Given the description of an element on the screen output the (x, y) to click on. 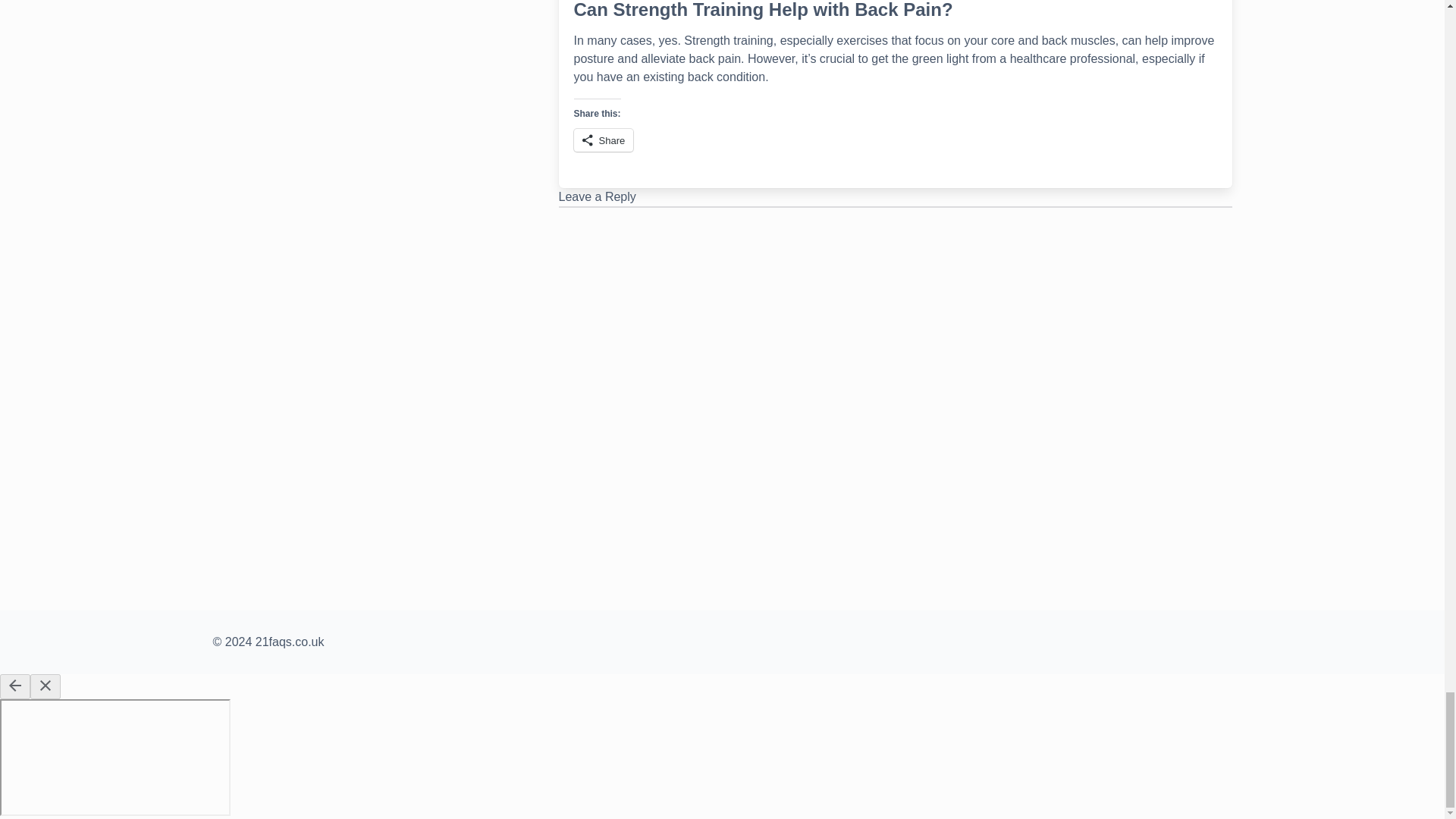
Share (603, 139)
